Given the description of an element on the screen output the (x, y) to click on. 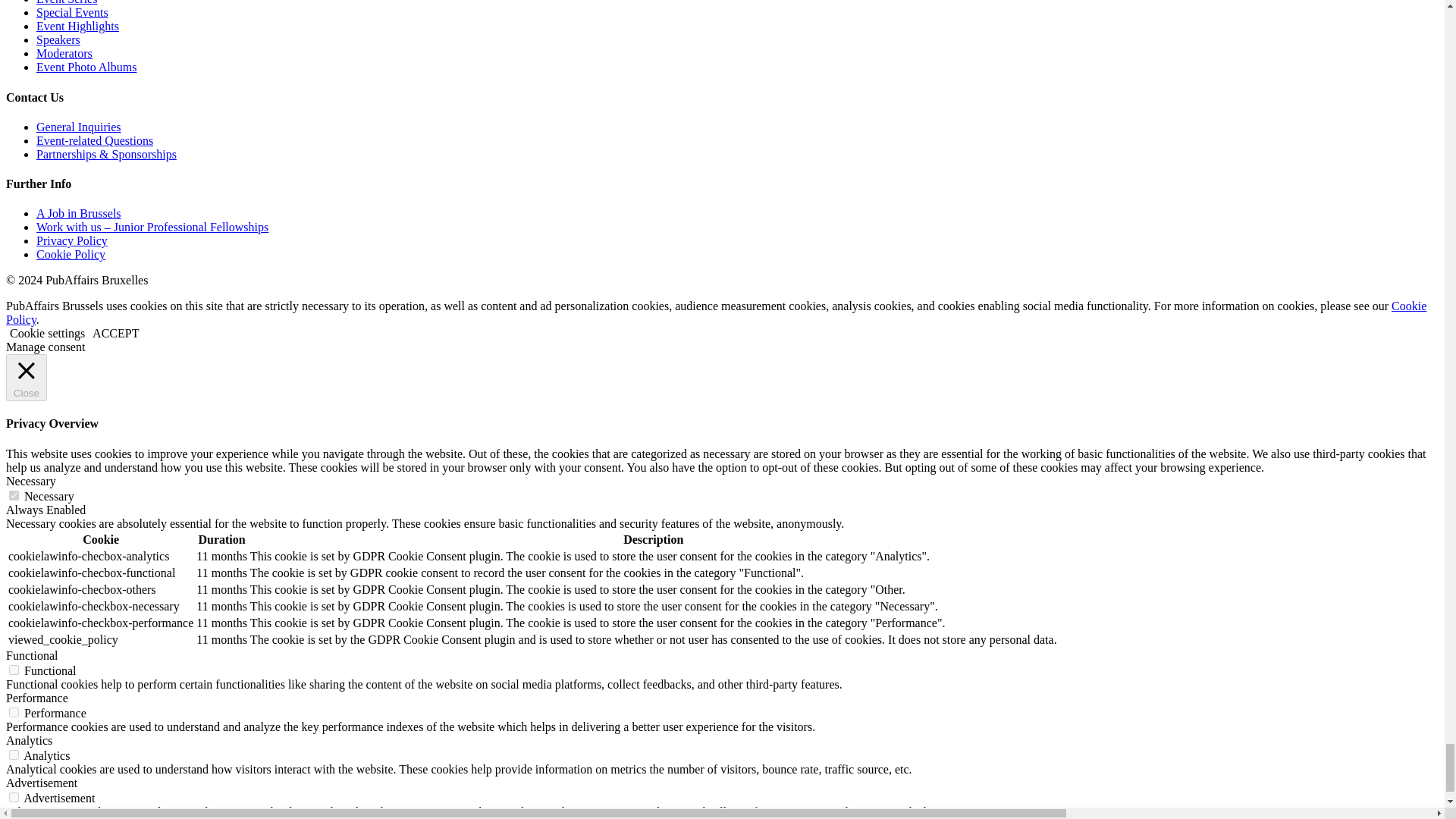
on (13, 495)
on (13, 669)
on (13, 755)
on (13, 712)
on (13, 797)
